Given the description of an element on the screen output the (x, y) to click on. 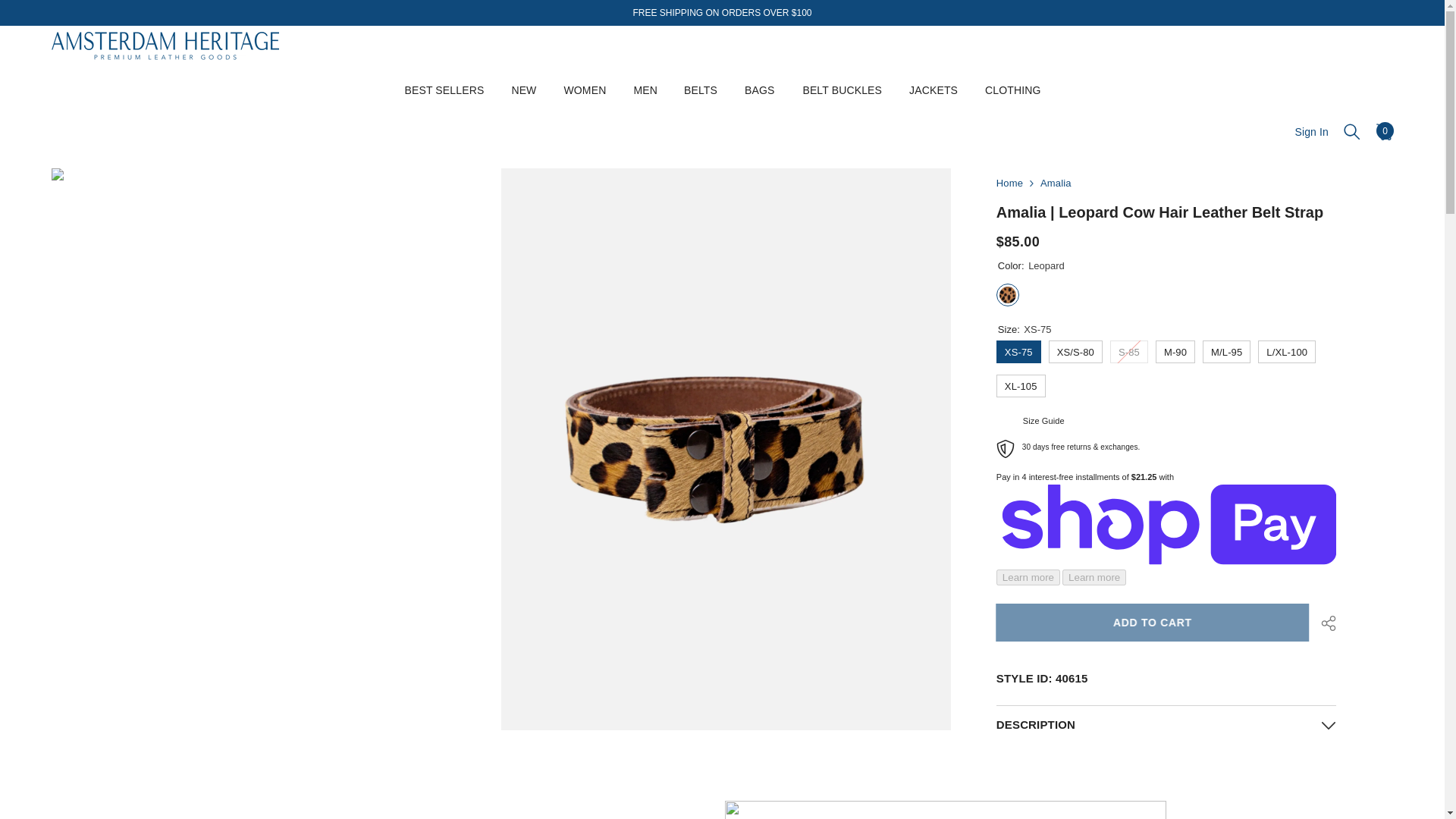
WOMEN (585, 102)
NEW (523, 103)
BEST SELLERS (443, 104)
